Given the description of an element on the screen output the (x, y) to click on. 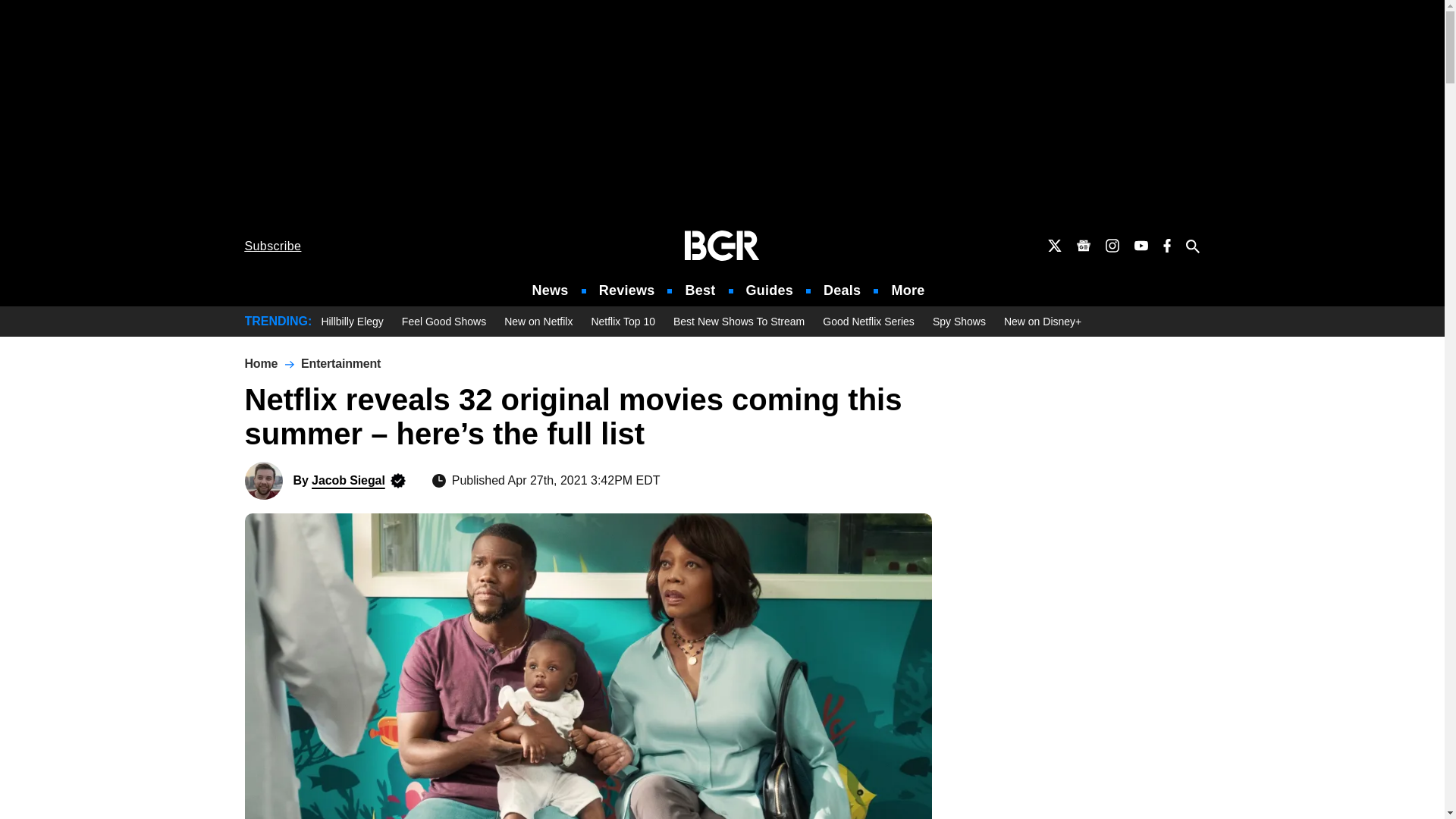
News (550, 290)
Posts by Jacob Siegal (348, 480)
Guides (769, 290)
Best (699, 290)
Deals (842, 290)
Subscribe (272, 245)
Reviews (626, 290)
More (907, 290)
